Given the description of an element on the screen output the (x, y) to click on. 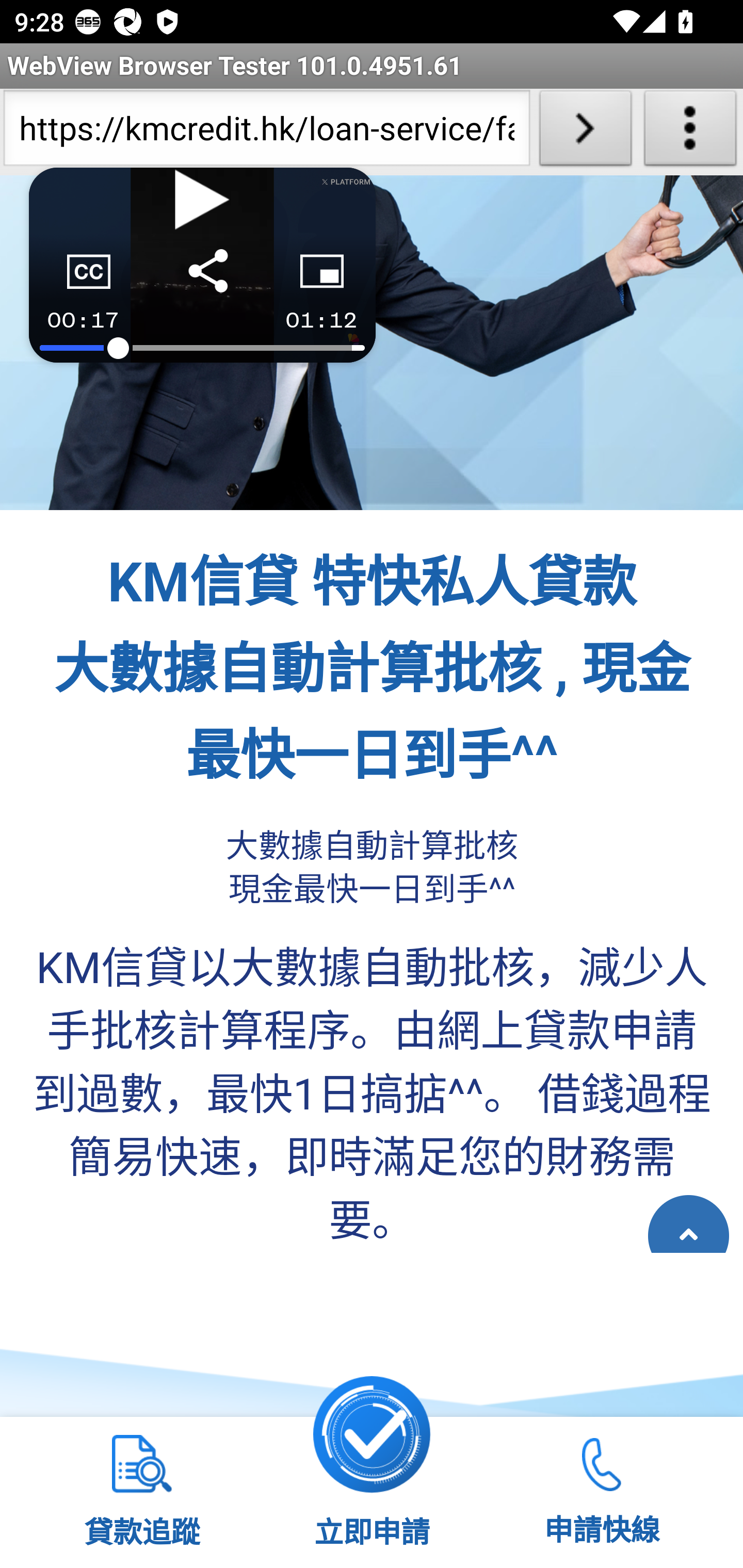
Load URL (585, 132)
About WebView (690, 132)
